Given the description of an element on the screen output the (x, y) to click on. 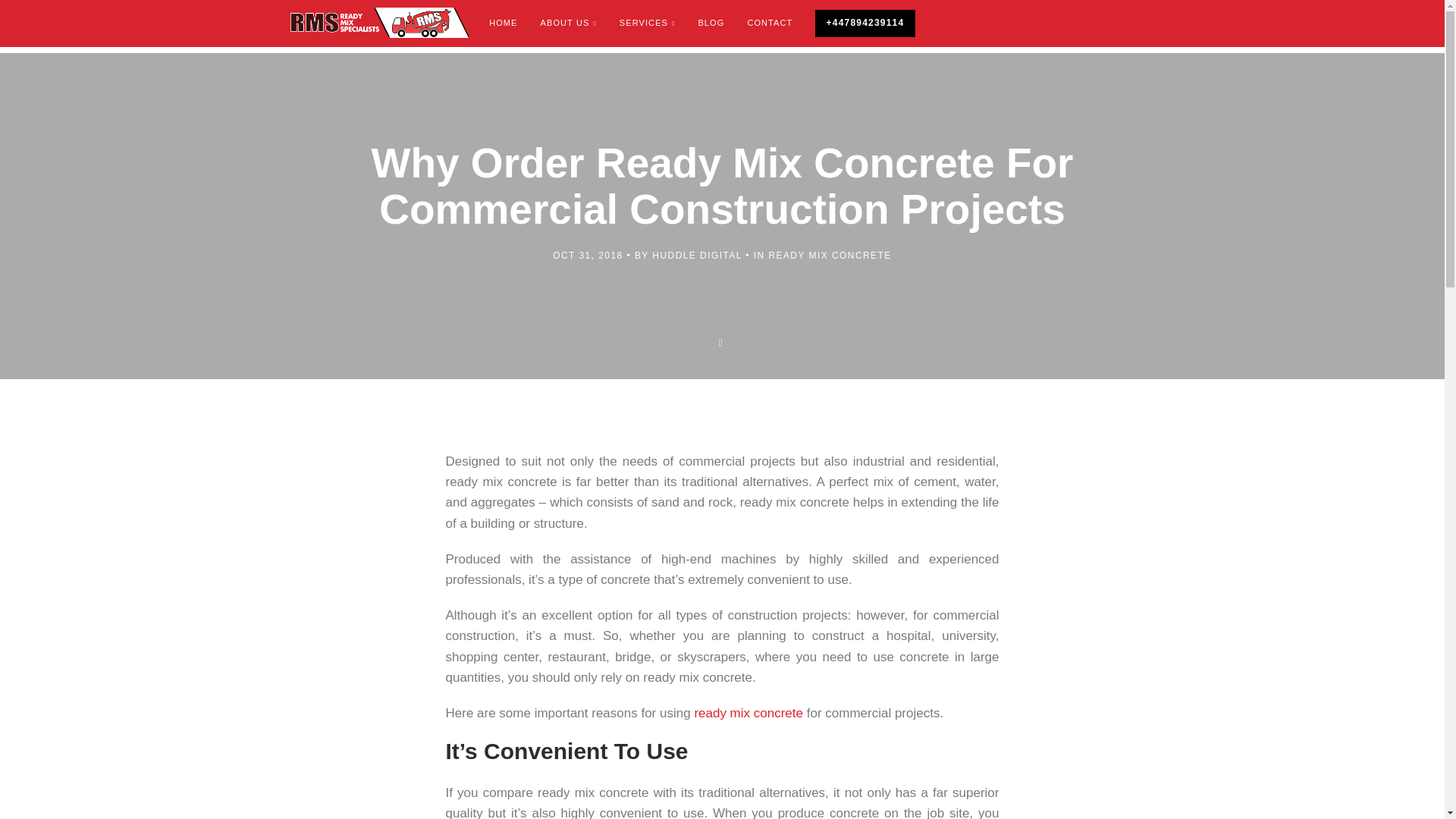
ABOUT US (568, 23)
HUDDLE DIGITAL (696, 255)
BLOG (710, 23)
SERVICES (647, 23)
HOME (502, 23)
Posts by Huddle Digital (696, 255)
CONTACT (769, 23)
